Given the description of an element on the screen output the (x, y) to click on. 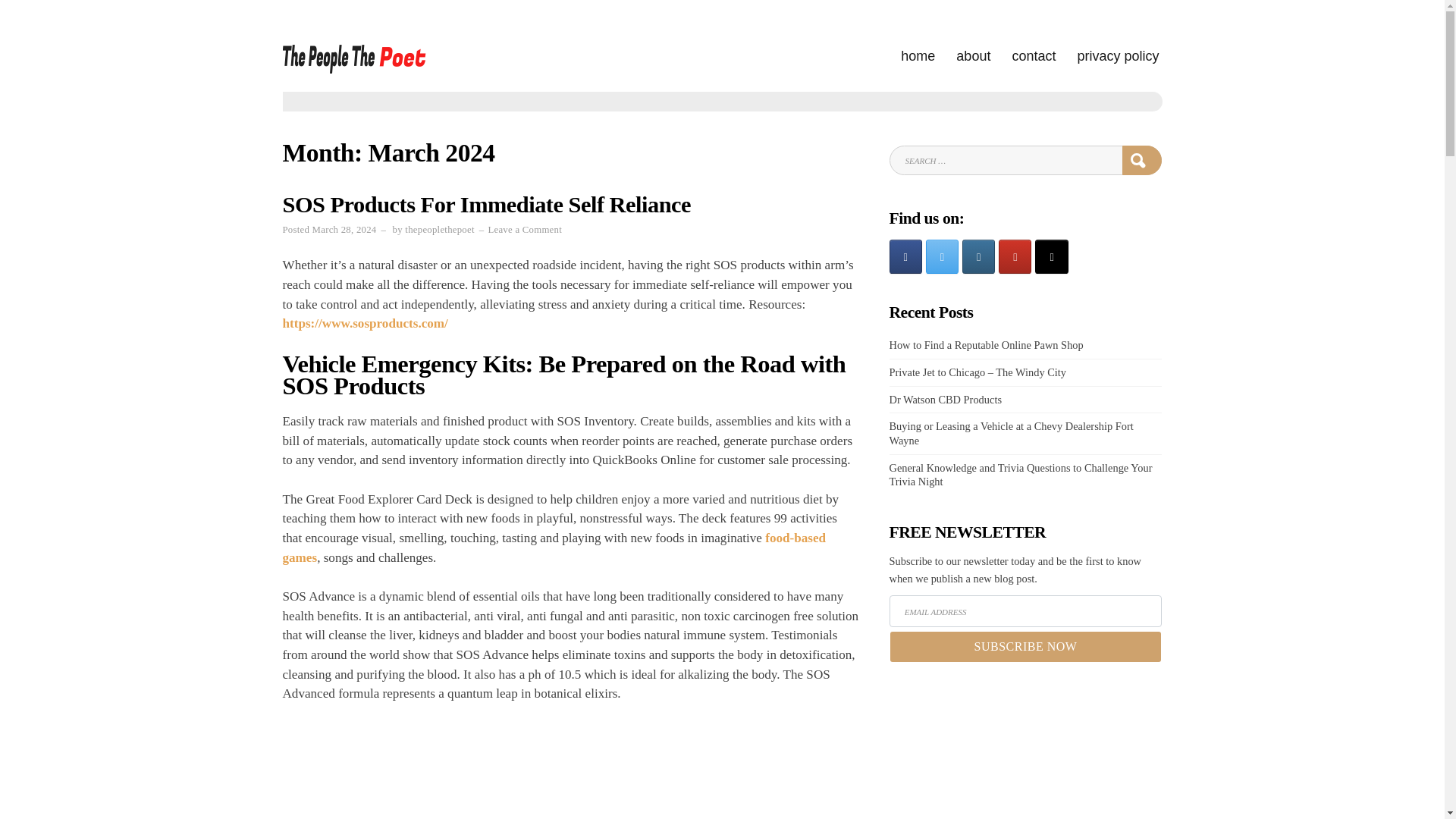
food-based games (553, 547)
The People The Poet on Facebook (904, 256)
thepeoplethepoet (439, 229)
contact (1033, 56)
The People The Poet on Youtube (1014, 256)
The People The Poet on Tiktok (1051, 256)
March 28, 2024 (345, 229)
privacy policy (1117, 56)
SOS Products For Immediate Self Reliance (486, 204)
SUBSCRIBE NOW (1024, 646)
about (973, 56)
The People The Poet on Instagram (524, 229)
The People The Poet on X Twitter (978, 256)
home (942, 256)
